Given the description of an element on the screen output the (x, y) to click on. 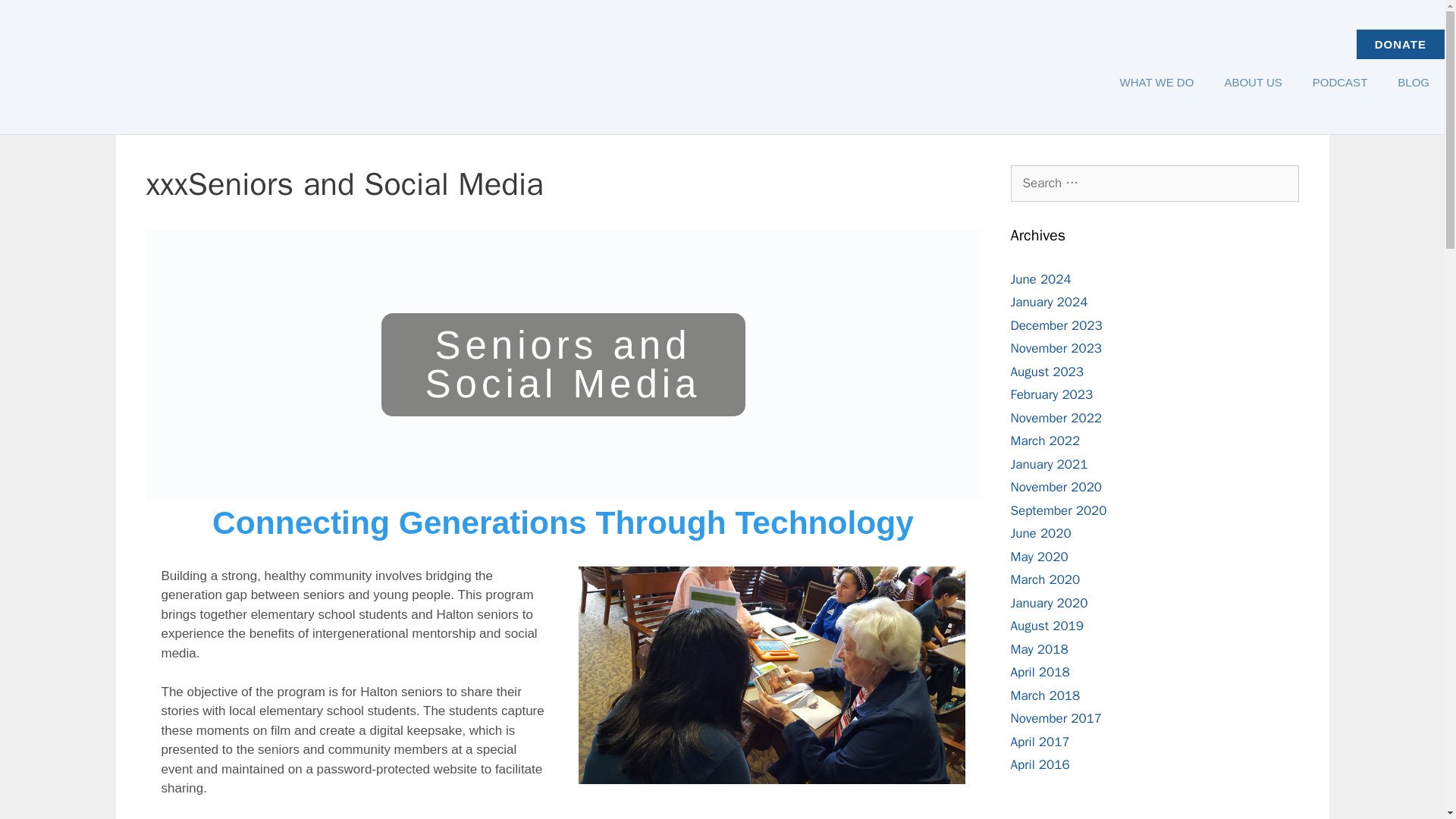
WHAT WE DO (1157, 81)
PODCAST (1340, 81)
Search for: (1154, 183)
ABOUT US (1252, 81)
